Given the description of an element on the screen output the (x, y) to click on. 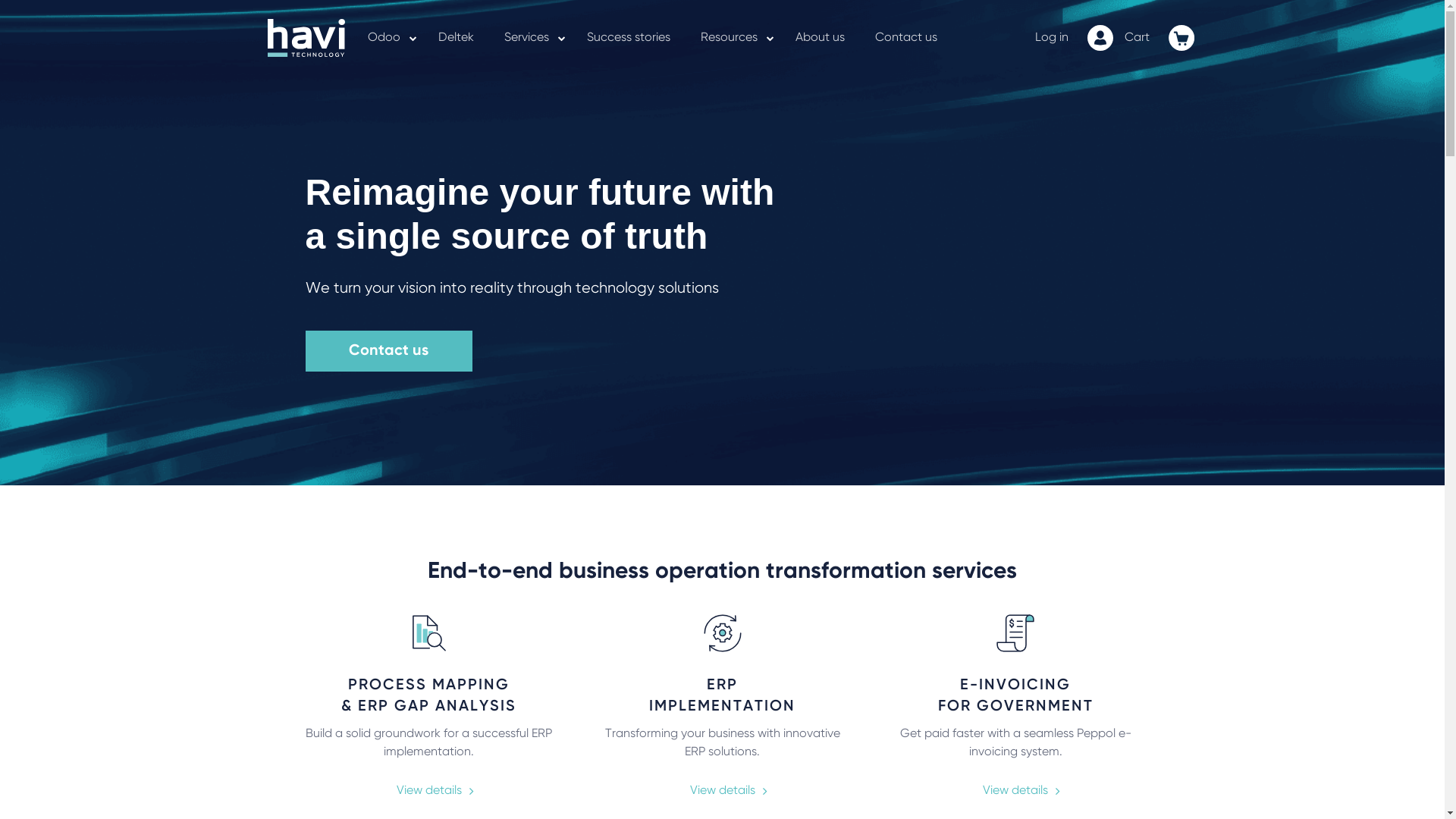
Contact us Element type: text (387, 350)
Success stories Element type: text (628, 37)
Resources Element type: text (728, 37)
View details Element type: text (1015, 790)
Deltek Element type: text (455, 37)
About us Element type: text (819, 37)
Services Element type: text (525, 37)
Log in Element type: text (1050, 38)
View details Element type: text (428, 790)
Contact us Element type: text (906, 37)
View details Element type: text (722, 790)
Cart Element type: text (1135, 38)
Odoo Element type: text (383, 37)
